Given the description of an element on the screen output the (x, y) to click on. 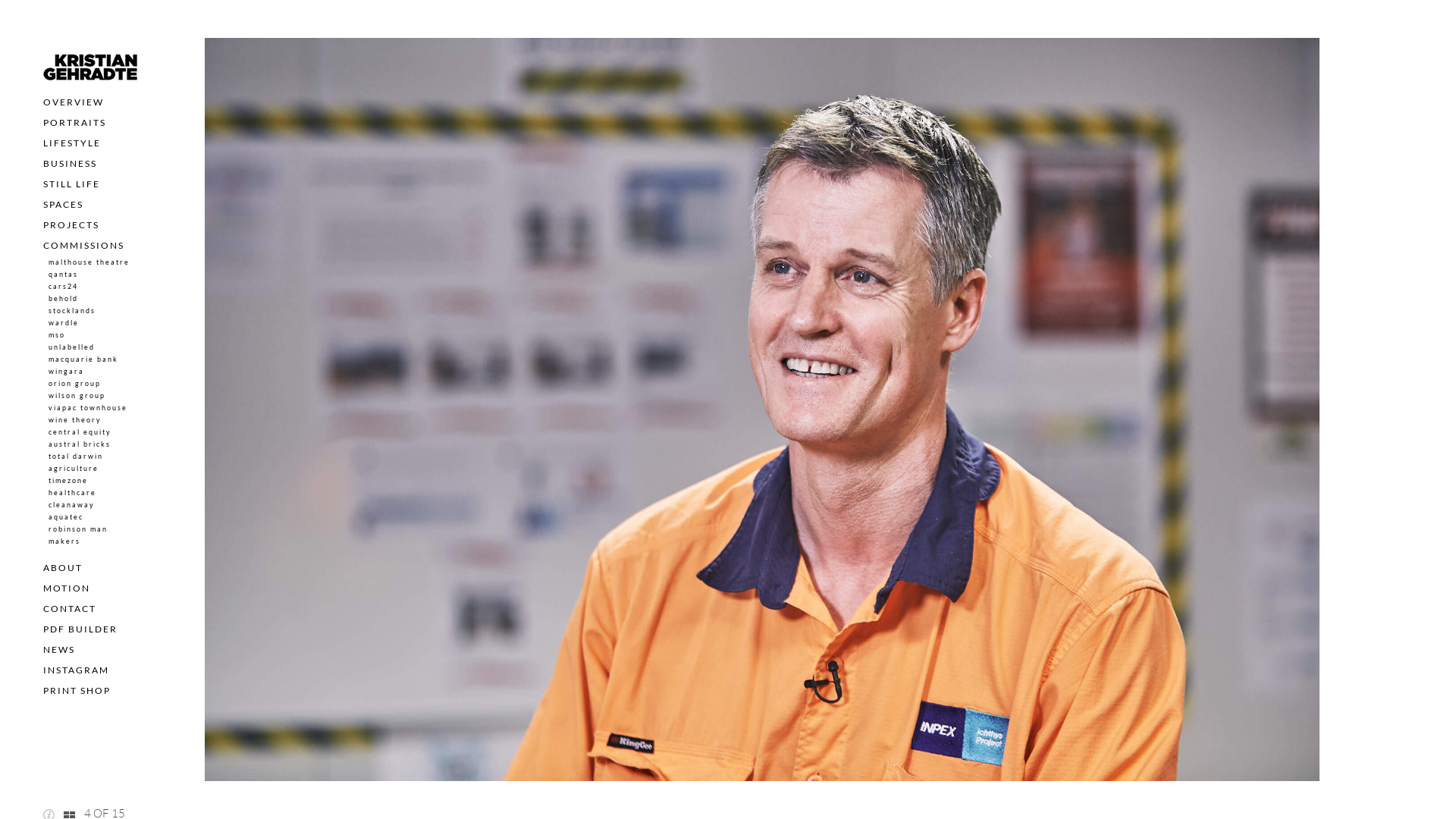
aquatec Element type: text (65, 516)
PROJECTS Element type: text (71, 224)
total darwin Element type: text (75, 455)
central equity Element type: text (79, 431)
agriculture Element type: text (73, 468)
SPACES Element type: text (63, 204)
INSTAGRAM Element type: text (76, 669)
BUSINESS Element type: text (70, 163)
macquarie bank Element type: text (83, 358)
stocklands Element type: text (71, 310)
NEWS Element type: text (59, 649)
LIFESTYLE Element type: text (71, 142)
healthcare Element type: text (72, 492)
OVERVIEW Element type: text (73, 101)
wilson group Element type: text (76, 395)
makers Element type: text (64, 540)
viapac townhouse Element type: text (87, 407)
austral bricks Element type: text (79, 443)
PRINT SHOP Element type: text (76, 690)
orion group Element type: text (74, 383)
COMMISSIONS Element type: text (83, 245)
timezone Element type: text (67, 480)
malthouse theatre Element type: text (88, 261)
CONTACT Element type: text (69, 608)
mso Element type: text (56, 334)
behold Element type: text (63, 298)
qantas Element type: text (63, 273)
wine theory Element type: text (74, 419)
MOTION Element type: text (66, 587)
wingara Element type: text (66, 371)
wardle Element type: text (63, 322)
robinson man Element type: text (77, 528)
unlabelled Element type: text (71, 346)
cars24 Element type: text (63, 286)
STILL LIFE Element type: text (71, 183)
PORTRAITS Element type: text (74, 122)
cleanaway Element type: text (71, 504)
PDF BUILDER Element type: text (80, 628)
ABOUT Element type: text (62, 567)
